Given the description of an element on the screen output the (x, y) to click on. 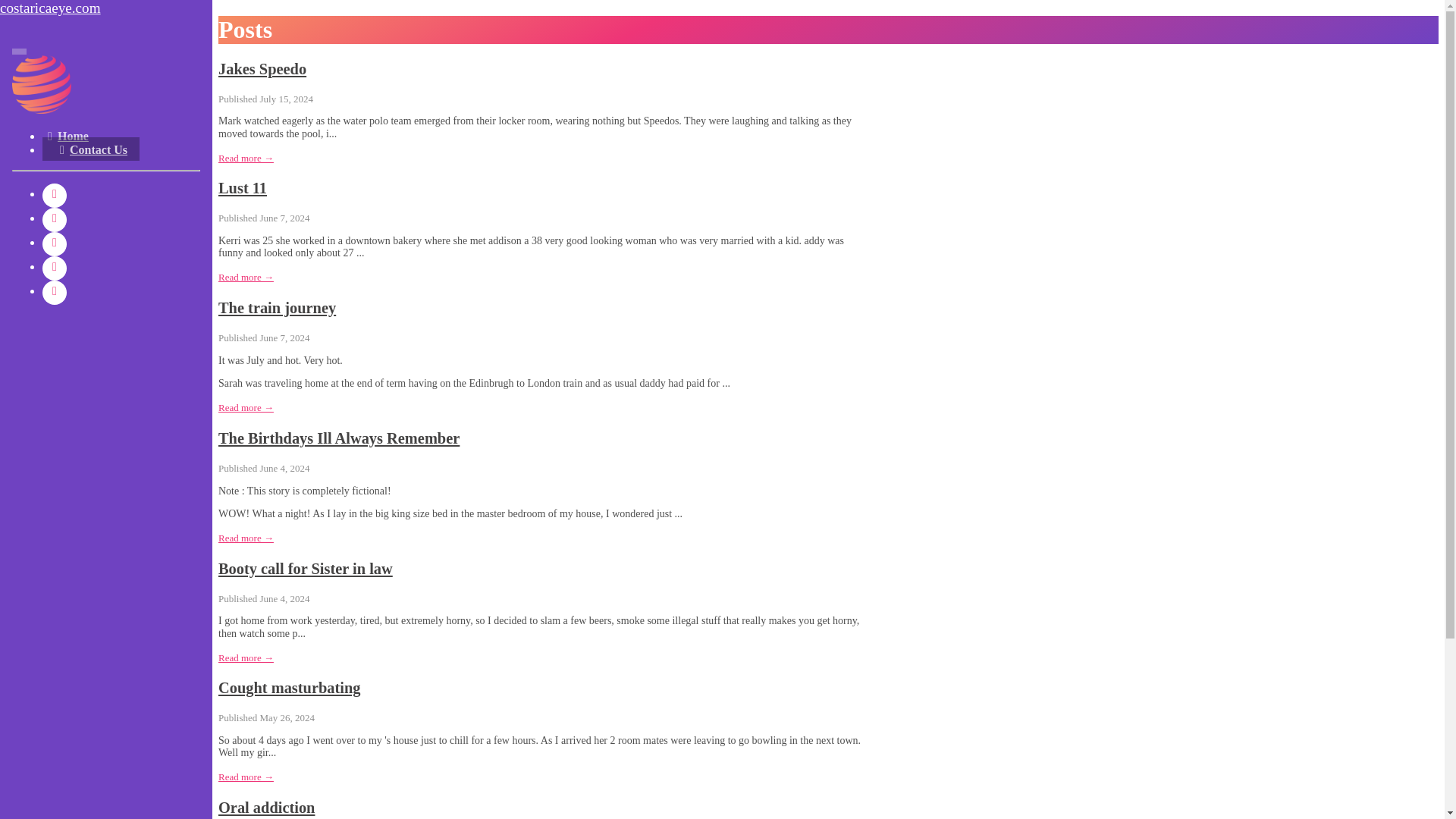
Cought masturbating (289, 687)
The Birthdays Ill Always Remember (339, 437)
Contact Us (90, 148)
Oral addiction (266, 807)
costaricaeye.com (106, 8)
Lust 11 (242, 187)
Booty call for Sister in law (305, 568)
The train journey (277, 307)
Jakes Speedo (261, 68)
